Given the description of an element on the screen output the (x, y) to click on. 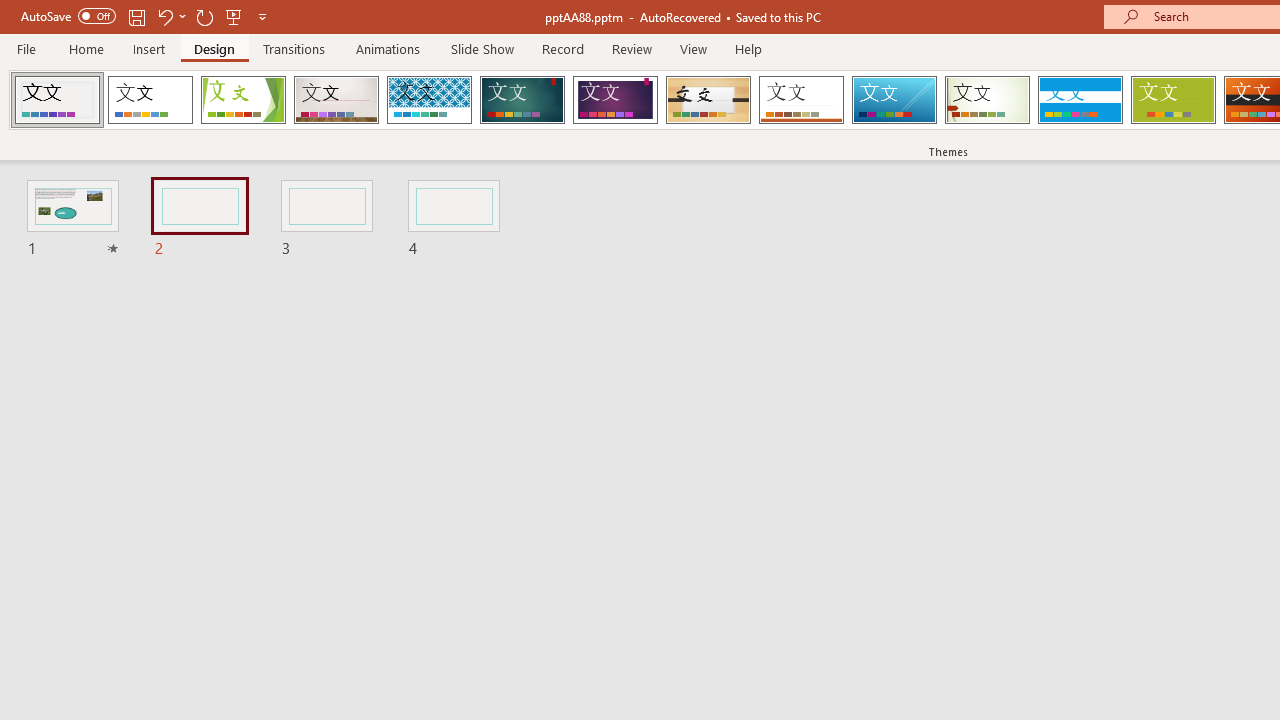
Ion Loading Preview... (522, 100)
